Given the description of an element on the screen output the (x, y) to click on. 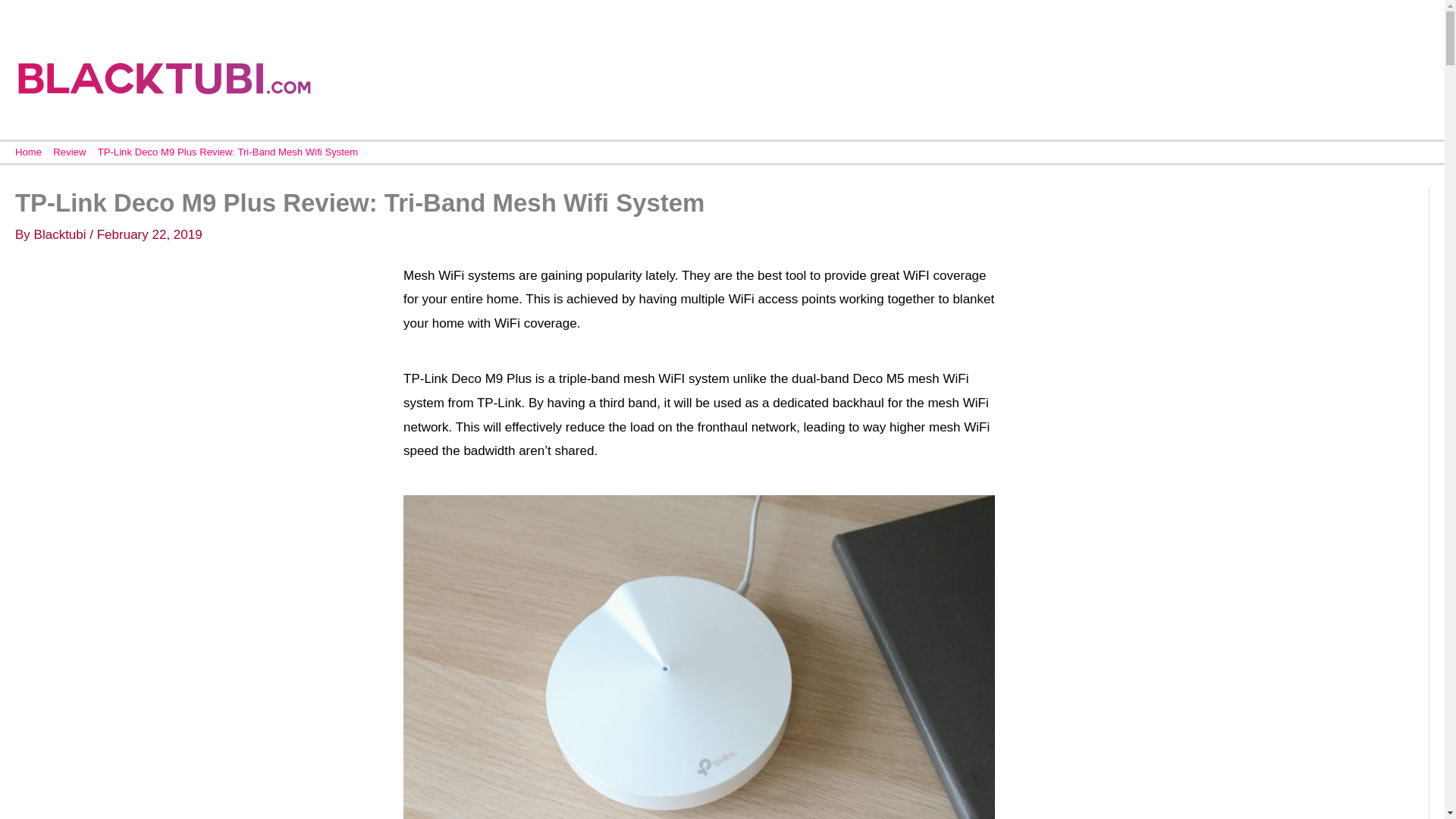
Home (28, 152)
TP-Link Deco M9 Plus Review: Tri-Band Mesh Wifi System (227, 152)
Unifi Routers (1264, 74)
Reviews (1087, 74)
Blacktubi (61, 234)
Guides (1357, 74)
Review (68, 152)
View all posts by Blacktubi (61, 234)
About Us (1169, 74)
